Given the description of an element on the screen output the (x, y) to click on. 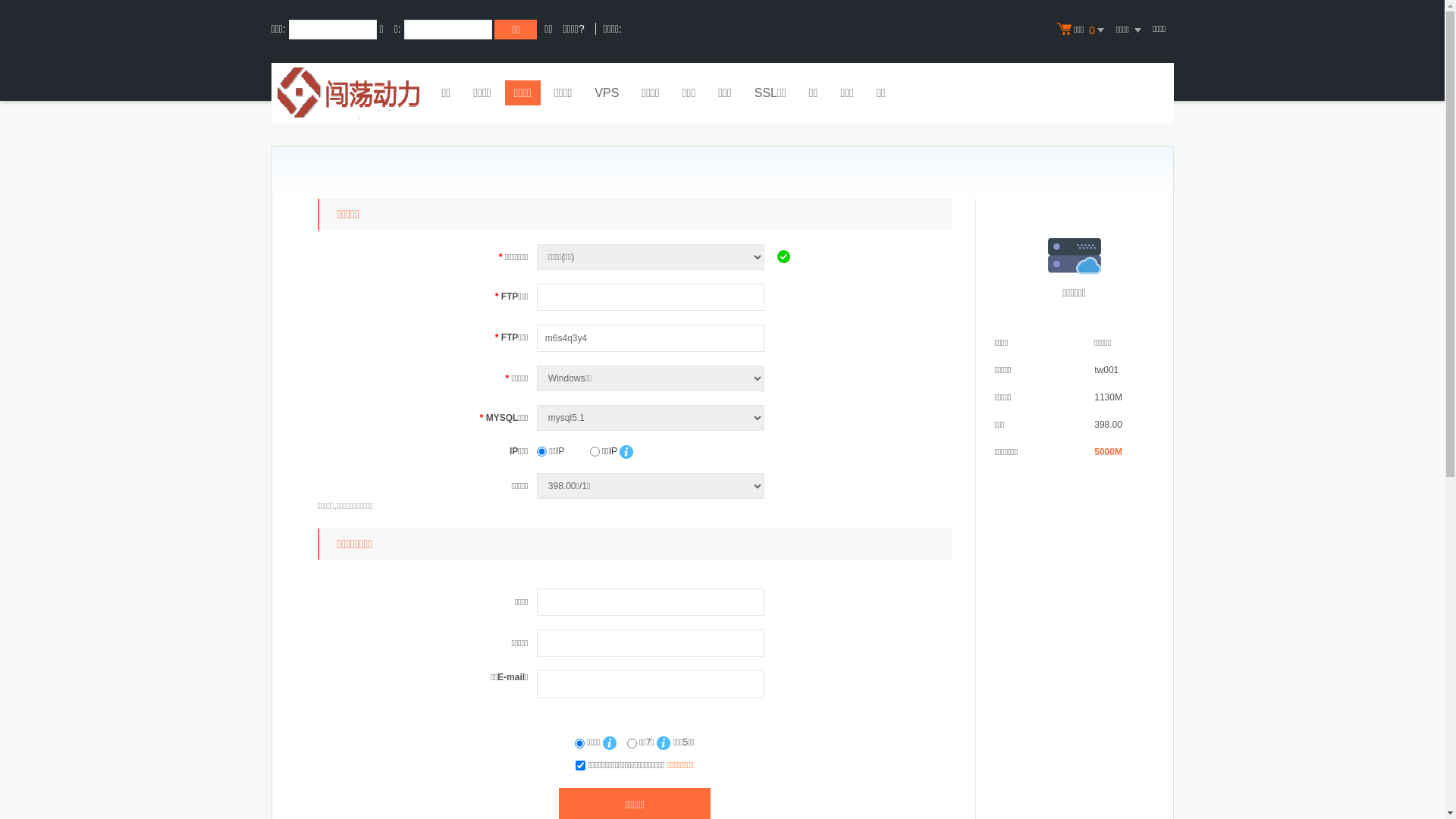
VPS Element type: text (606, 94)
